Given the description of an element on the screen output the (x, y) to click on. 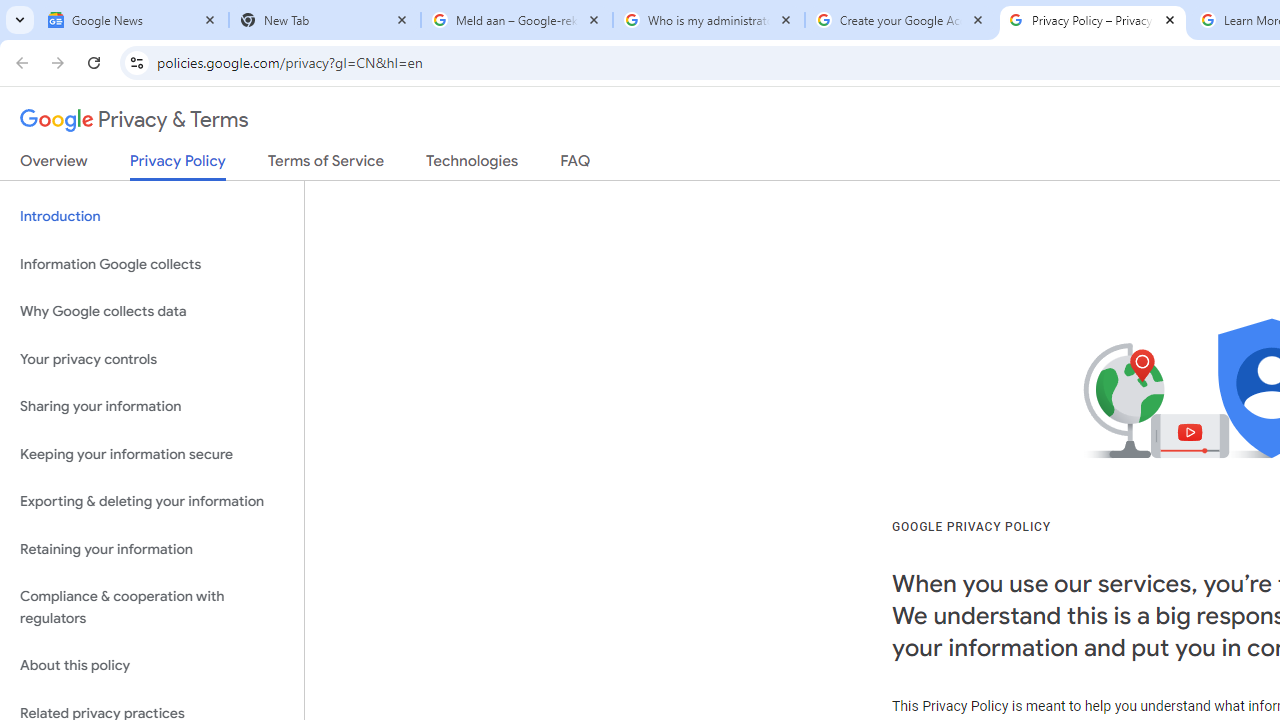
Create your Google Account (901, 20)
